Given the description of an element on the screen output the (x, y) to click on. 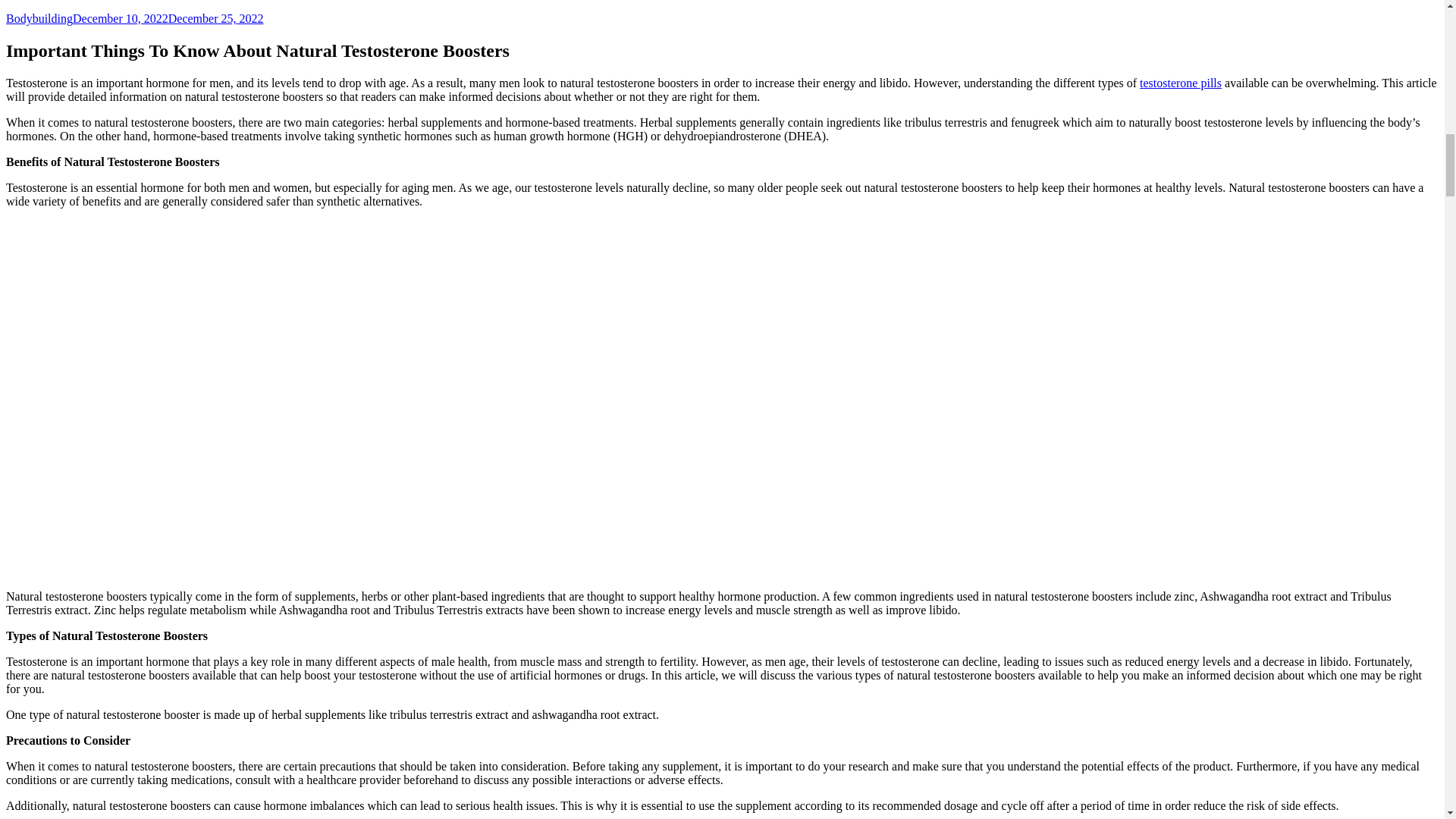
Bodybuilding (38, 18)
December 10, 2022December 25, 2022 (167, 18)
testosterone pills (1180, 82)
